Given the description of an element on the screen output the (x, y) to click on. 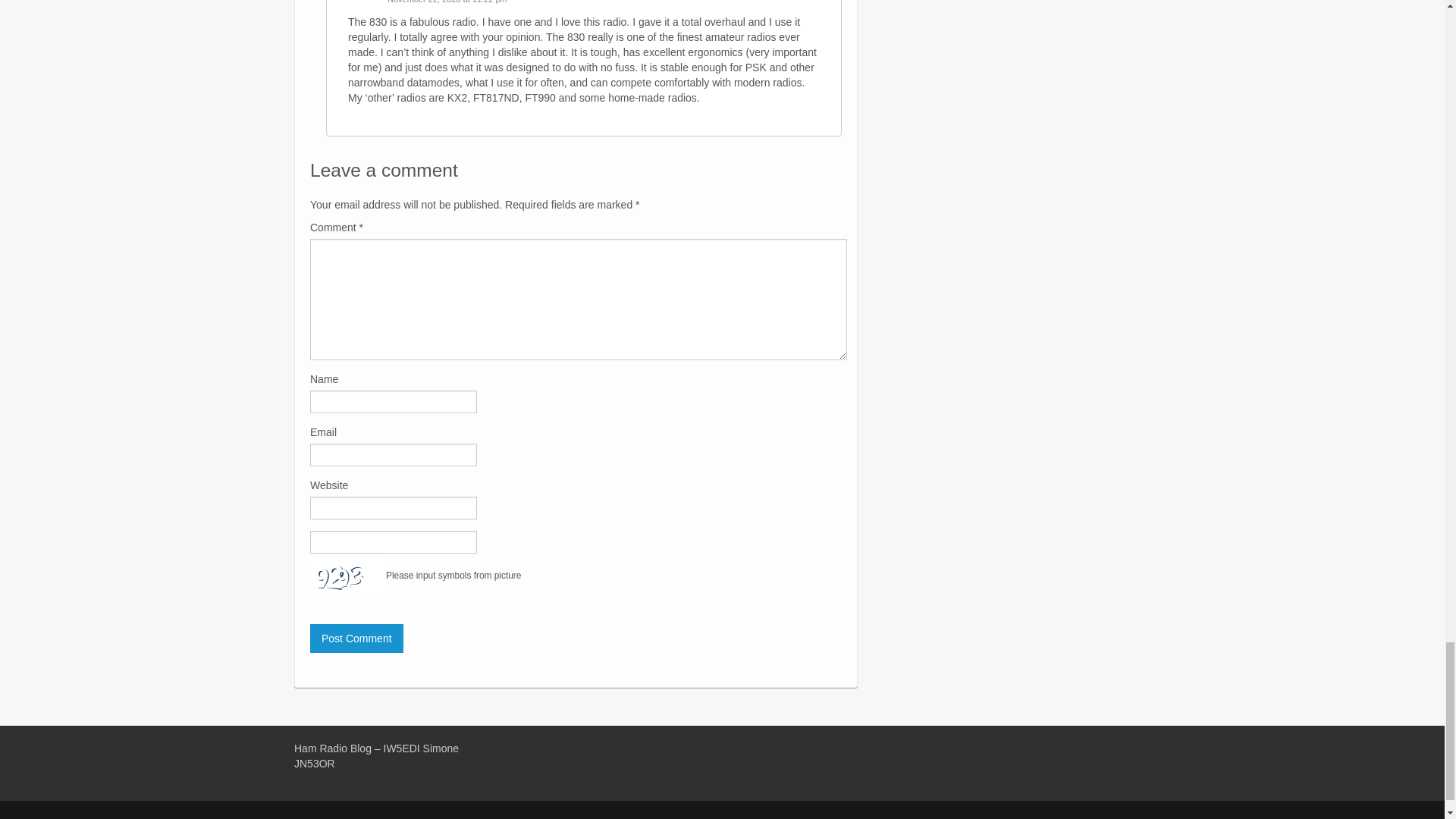
Post Comment (356, 638)
